Given the description of an element on the screen output the (x, y) to click on. 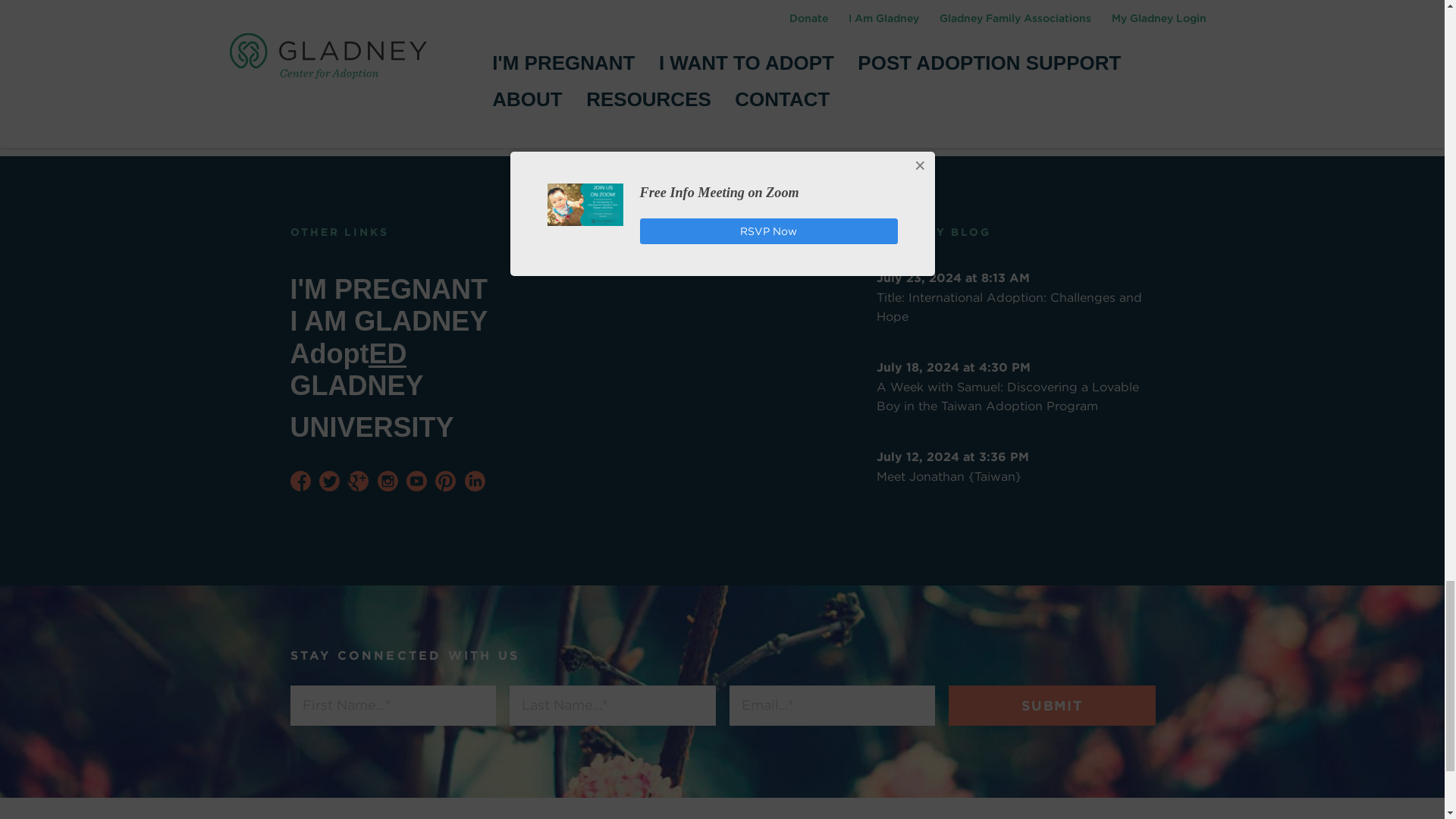
Follow Us On Twitter (328, 480)
Submit (1051, 705)
reCAPTCHA (386, 52)
Submit Comment (365, 115)
See all events... (653, 232)
Like Us On Facebook (299, 480)
Follow Us On Instagram (387, 480)
See Us On YouTube (416, 480)
Join Us On LinkedIn (474, 480)
Follow Us On Pinterest (445, 480)
Submit Comment (365, 115)
